Given the description of an element on the screen output the (x, y) to click on. 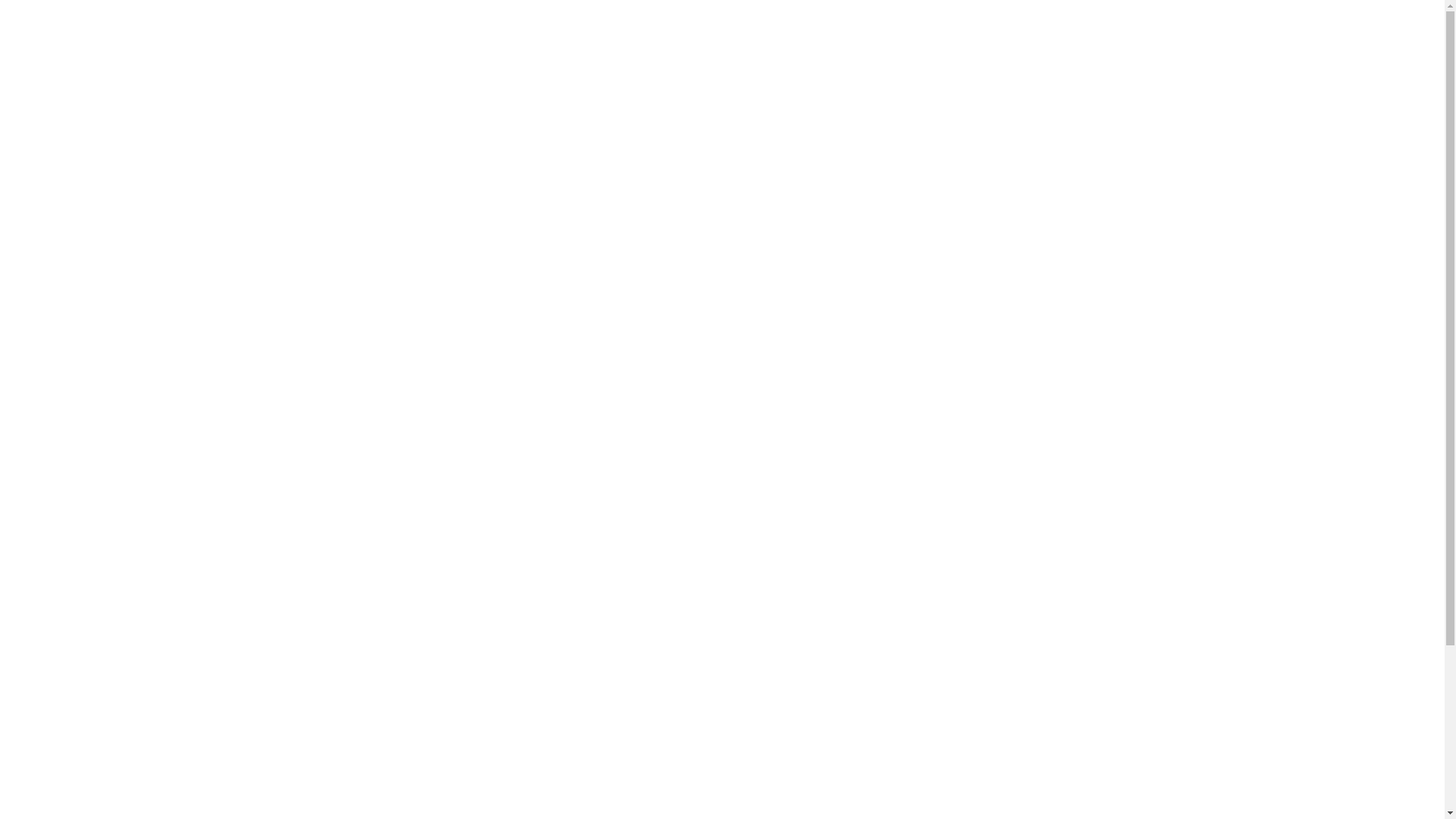
+375-25-716-94-62 (Viber, WatsApp) Element type: text (695, 68)
+375-25-521-40-82 Element type: text (617, 652)
E-MAIL
belka-meh@tut.by Element type: text (892, 45)
